Given the description of an element on the screen output the (x, y) to click on. 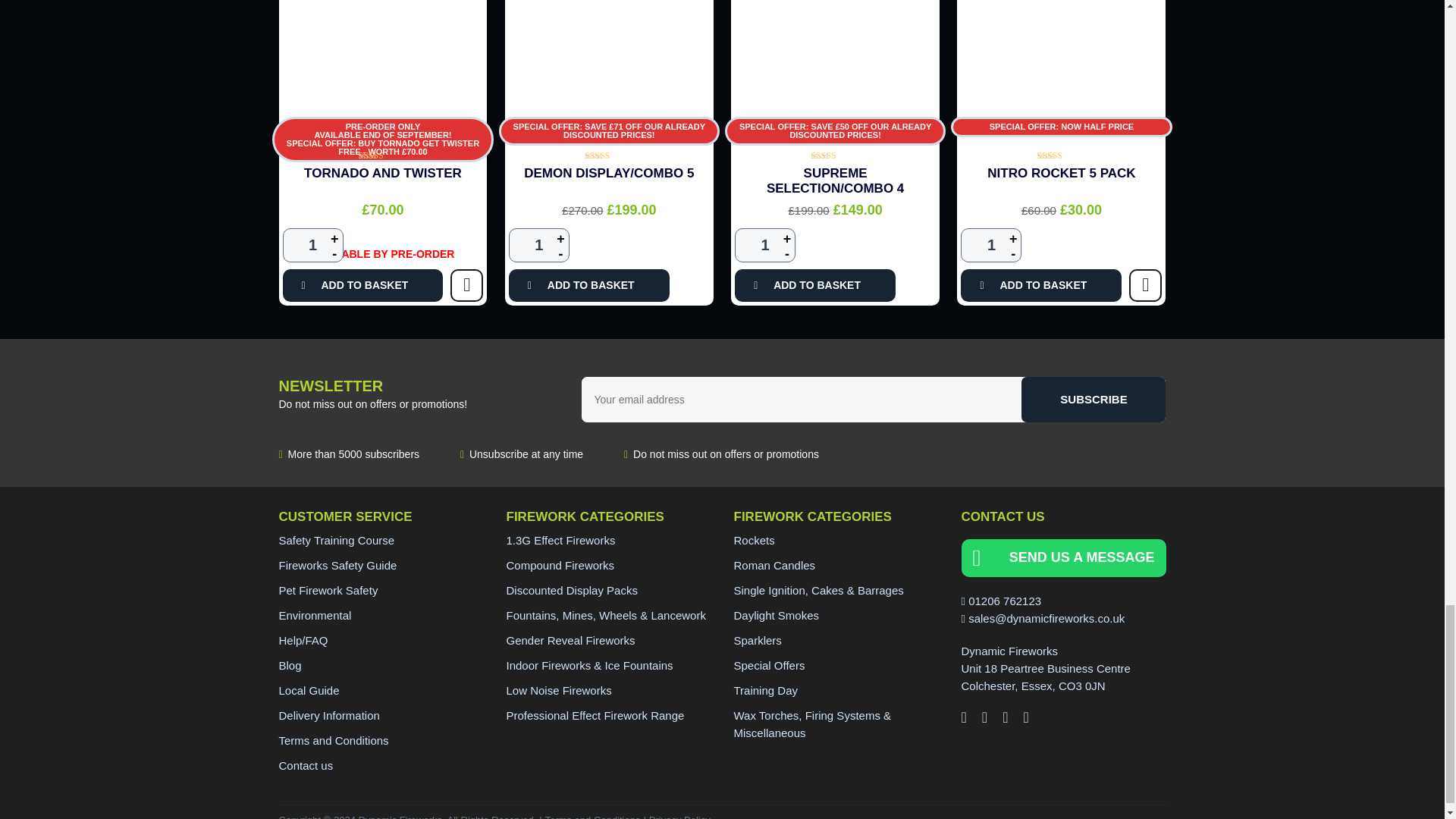
Qty (991, 245)
Qty (764, 245)
Qty (312, 245)
Qty (538, 245)
